Given the description of an element on the screen output the (x, y) to click on. 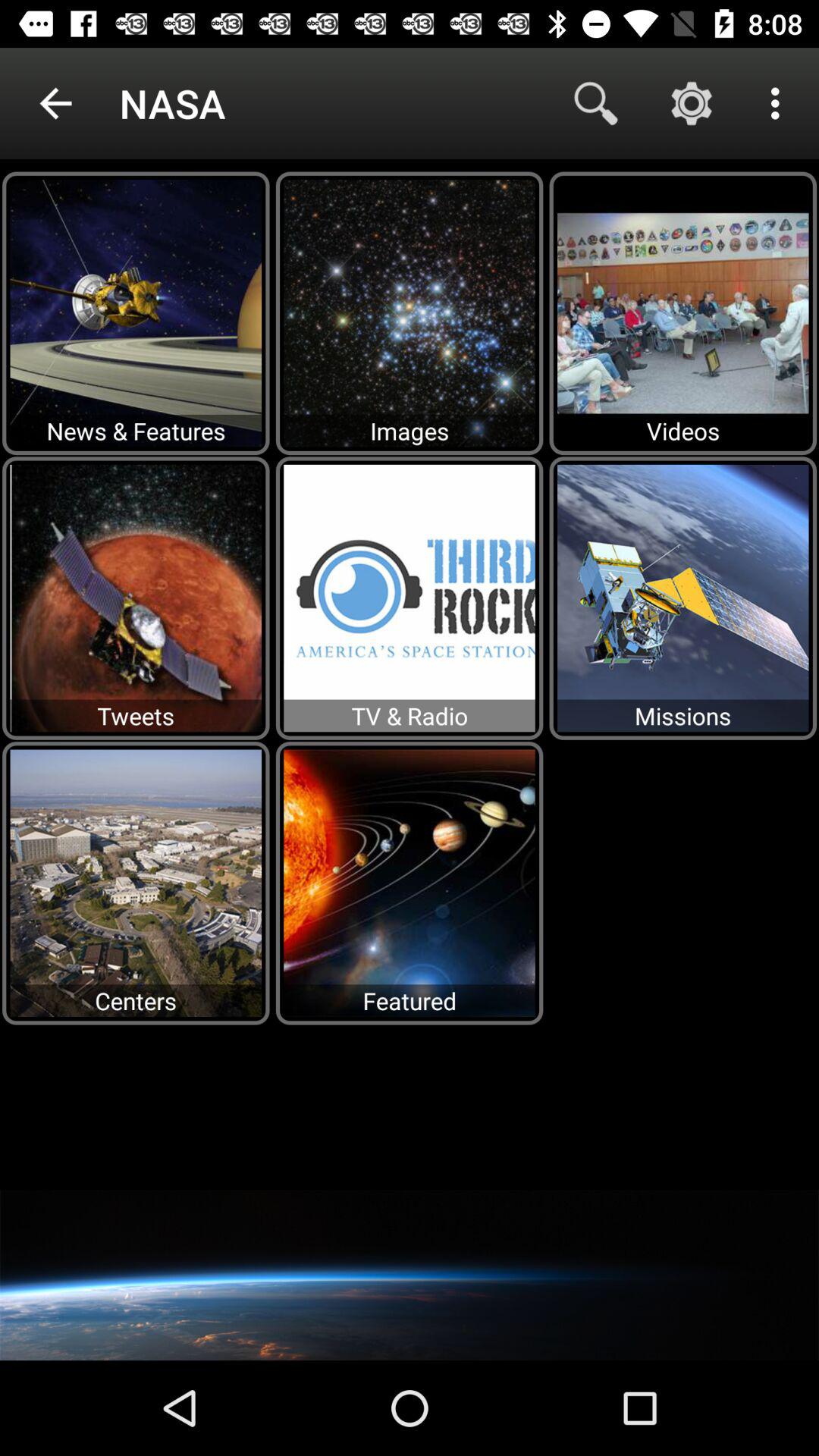
turn on the app to the right of nasa (595, 103)
